Given the description of an element on the screen output the (x, y) to click on. 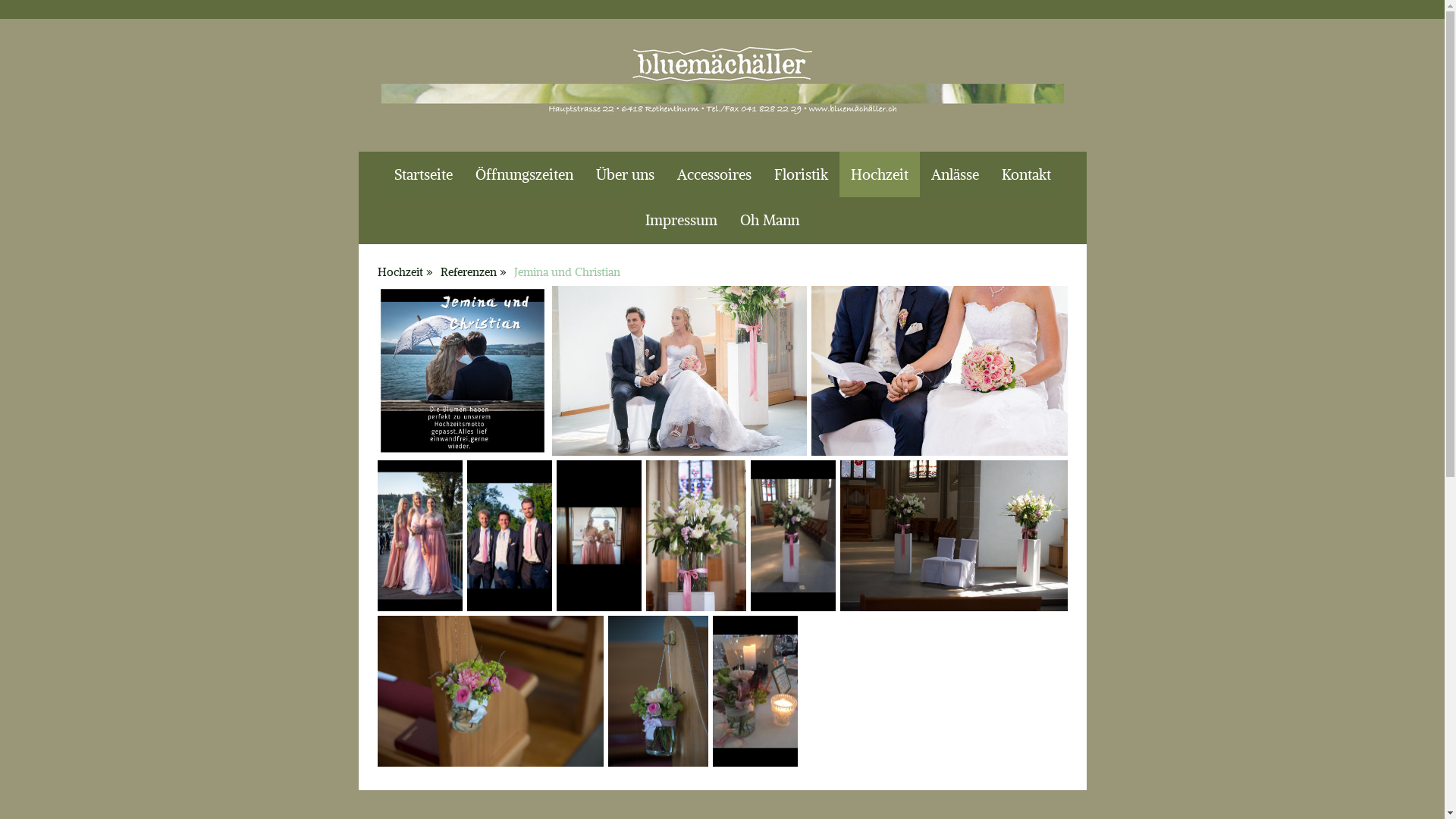
Impressum Element type: text (680, 219)
Floristik Element type: text (800, 174)
Hochzeit Element type: text (878, 174)
Accessoires Element type: text (713, 174)
Startseite Element type: text (422, 174)
Jemina und Christian Element type: text (566, 271)
Referenzen Element type: text (473, 271)
Oh Mann Element type: text (769, 219)
Kontakt Element type: text (1026, 174)
Hochzeit Element type: text (404, 271)
